Given the description of an element on the screen output the (x, y) to click on. 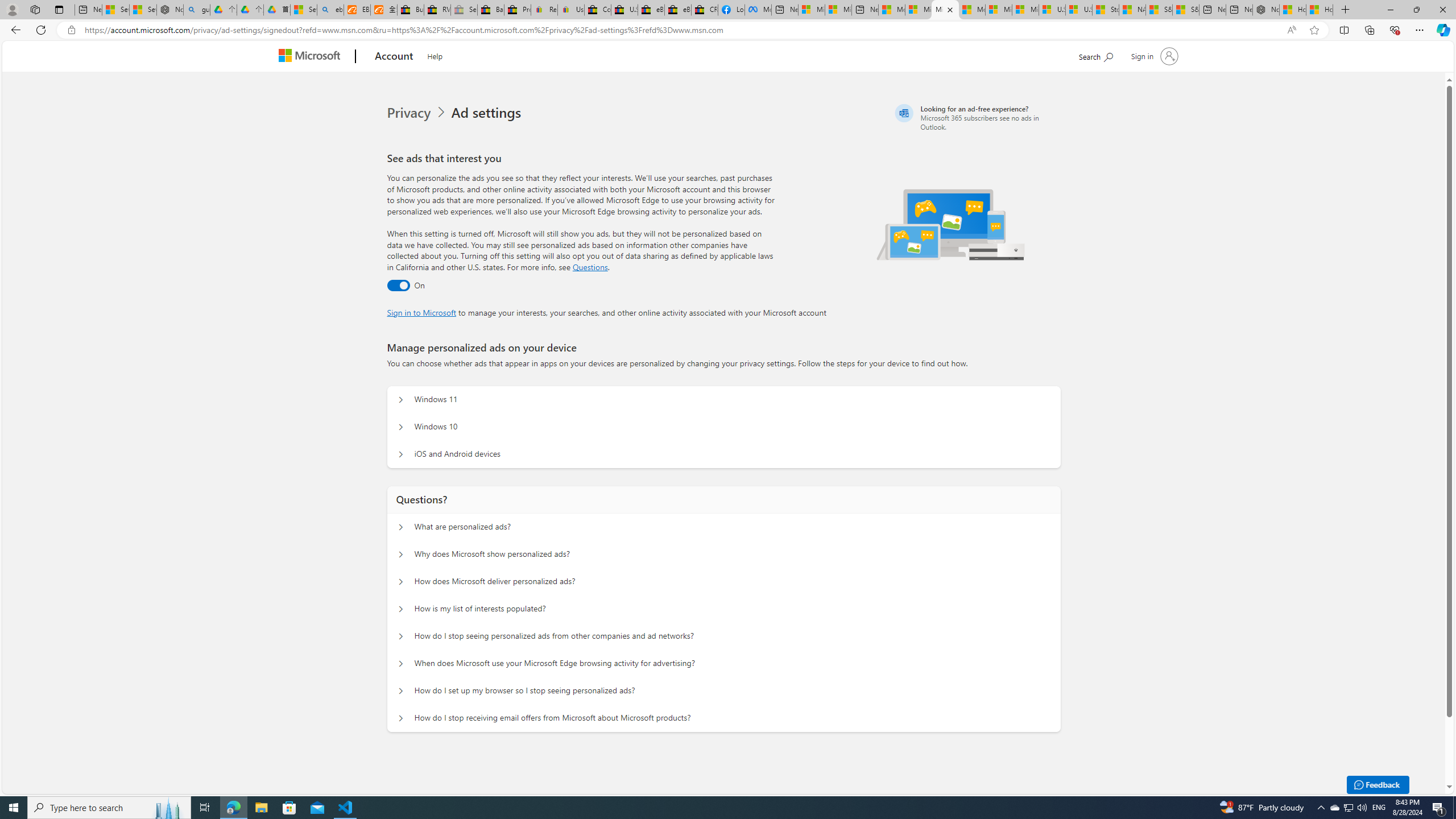
Go to Questions section (590, 266)
Account (394, 56)
